Given the description of an element on the screen output the (x, y) to click on. 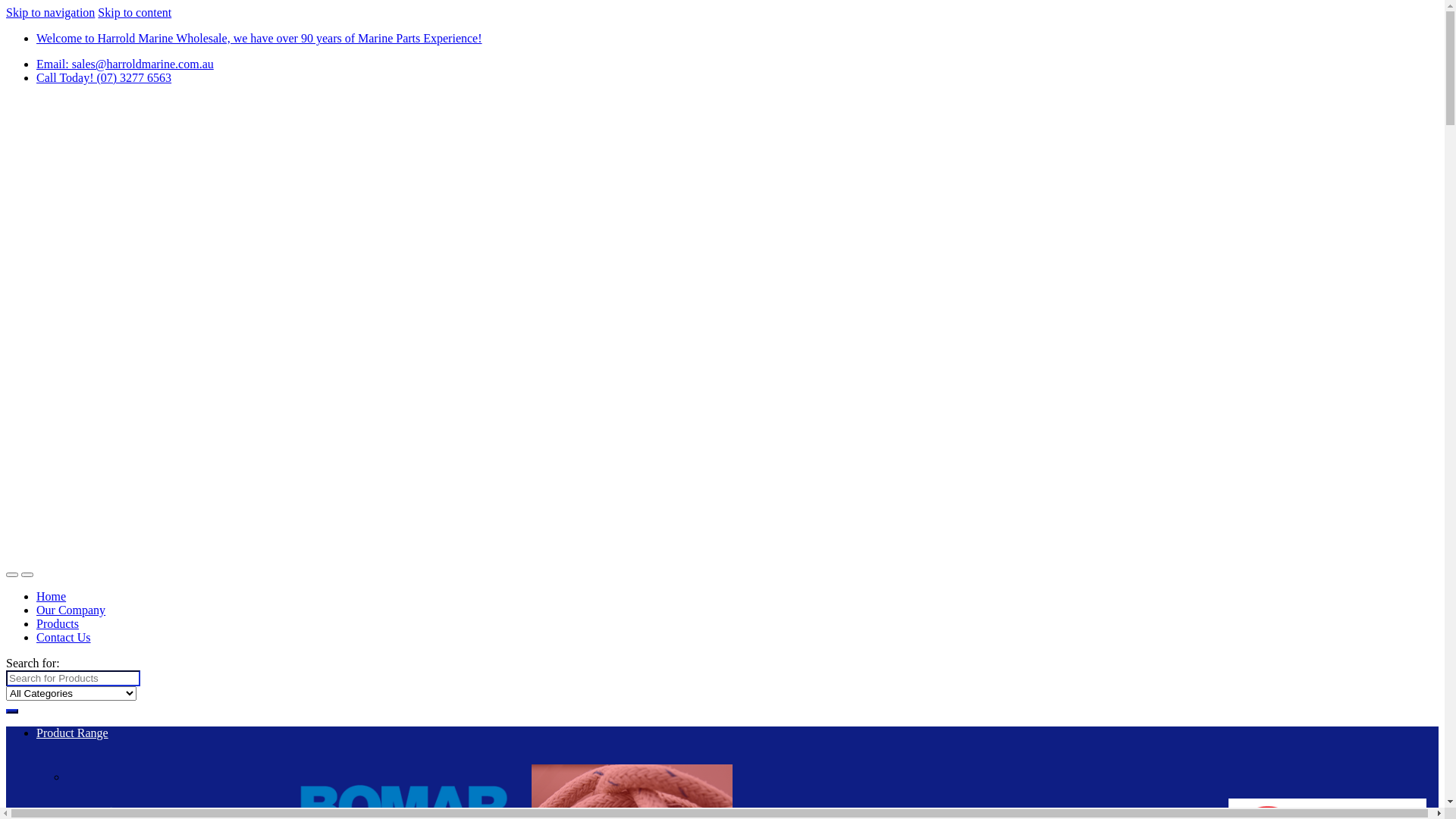
Product Range Element type: text (72, 732)
Call Today! (07) 3277 6563 Element type: text (103, 77)
Contact Us Element type: text (63, 636)
Email: sales@harroldmarine.com.au Element type: text (124, 63)
Skip to navigation Element type: text (50, 12)
Products Element type: text (57, 623)
Skip to content Element type: text (134, 12)
Our Company Element type: text (70, 609)
Home Element type: text (50, 595)
